Given the description of an element on the screen output the (x, y) to click on. 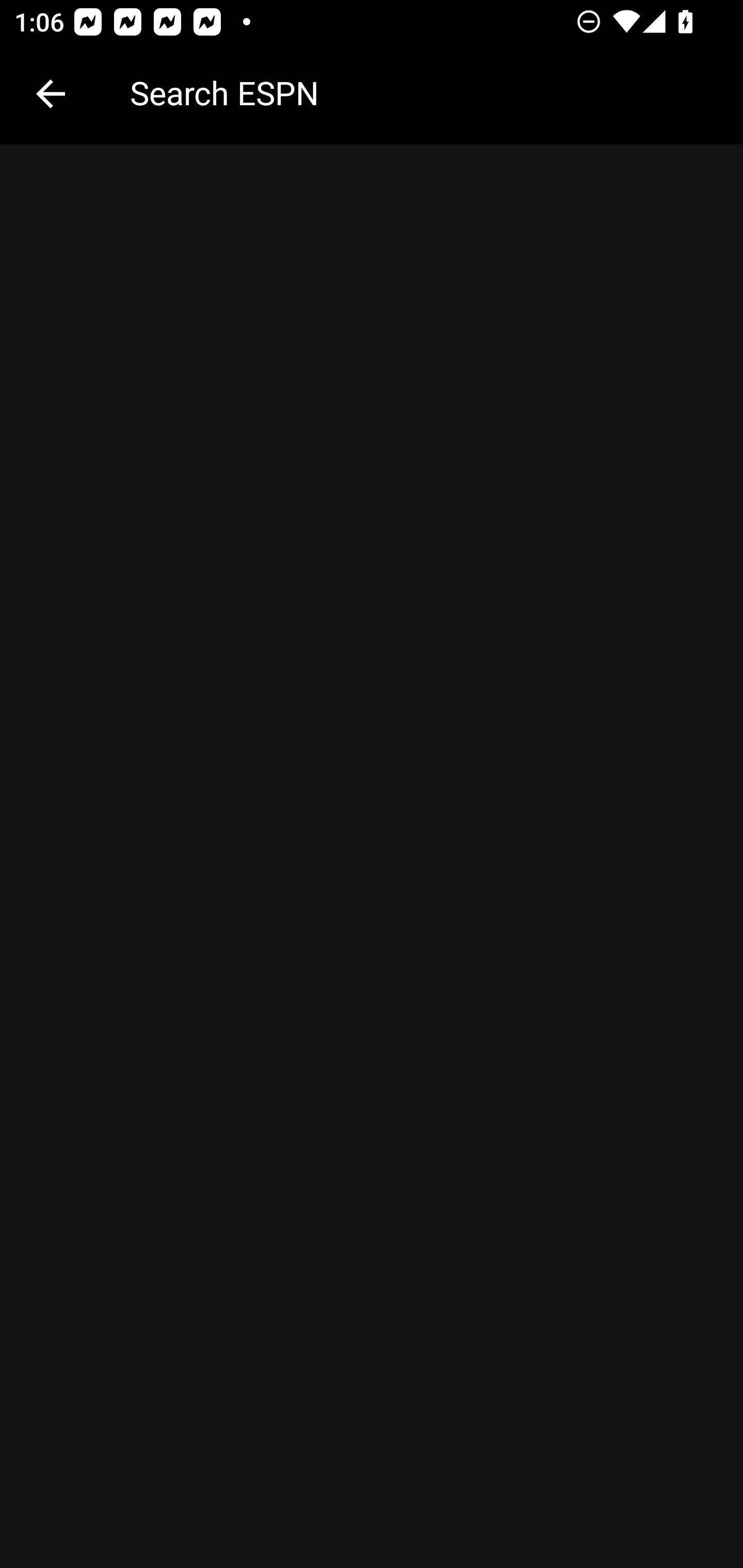
Collapse (50, 93)
Search ESPN (421, 92)
